Given the description of an element on the screen output the (x, y) to click on. 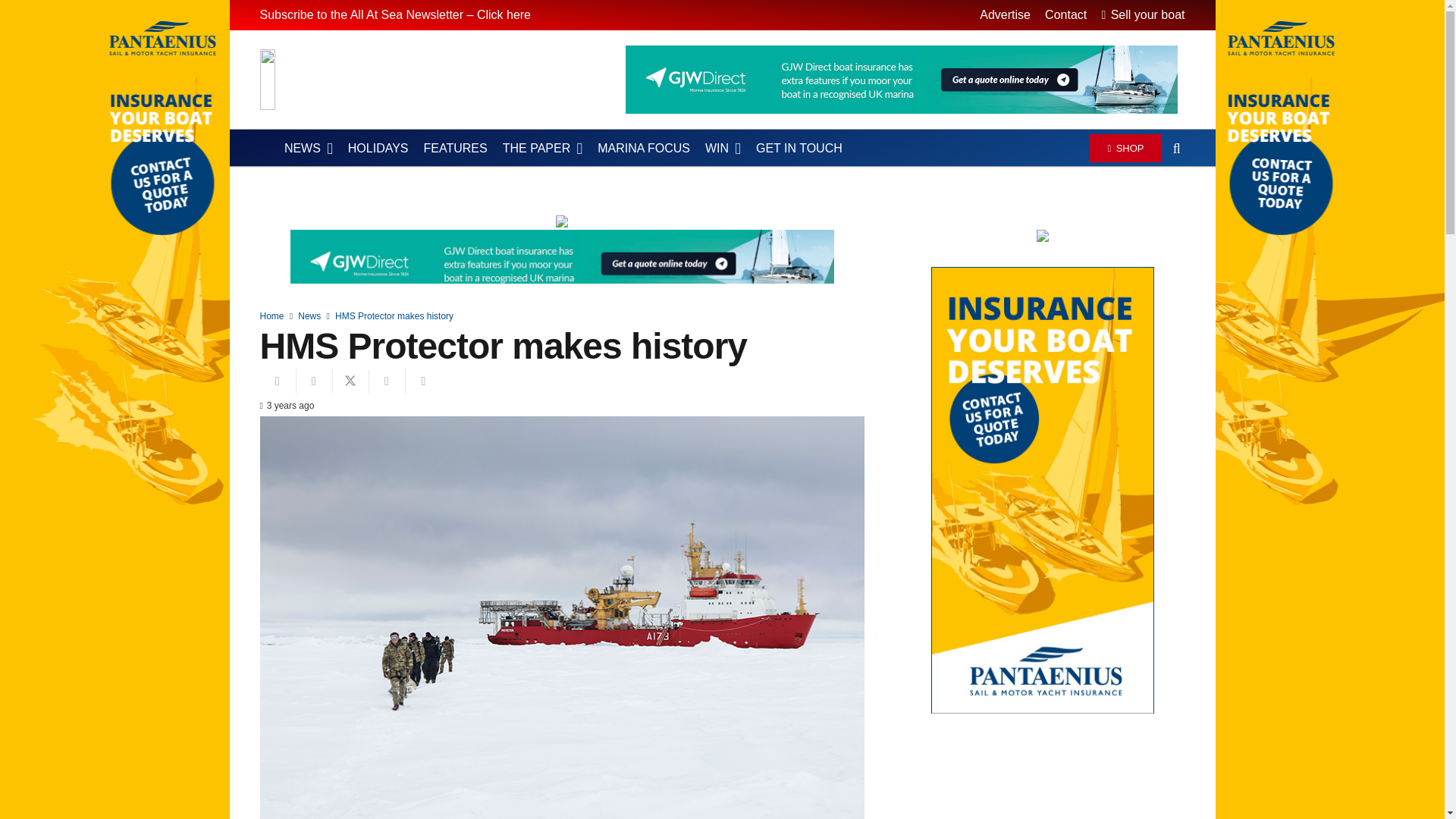
Contact (1065, 14)
WIN (722, 148)
Advertise (1004, 14)
News (309, 316)
Tweet this (349, 381)
HMS Protector makes history (393, 316)
Sell your boat (1142, 14)
Share this (422, 381)
THE PAPER (542, 148)
HOLIDAYS (378, 148)
NEWS (308, 148)
Share this (313, 381)
SHOP (1125, 147)
Share this (386, 381)
Email this (277, 381)
